Given the description of an element on the screen output the (x, y) to click on. 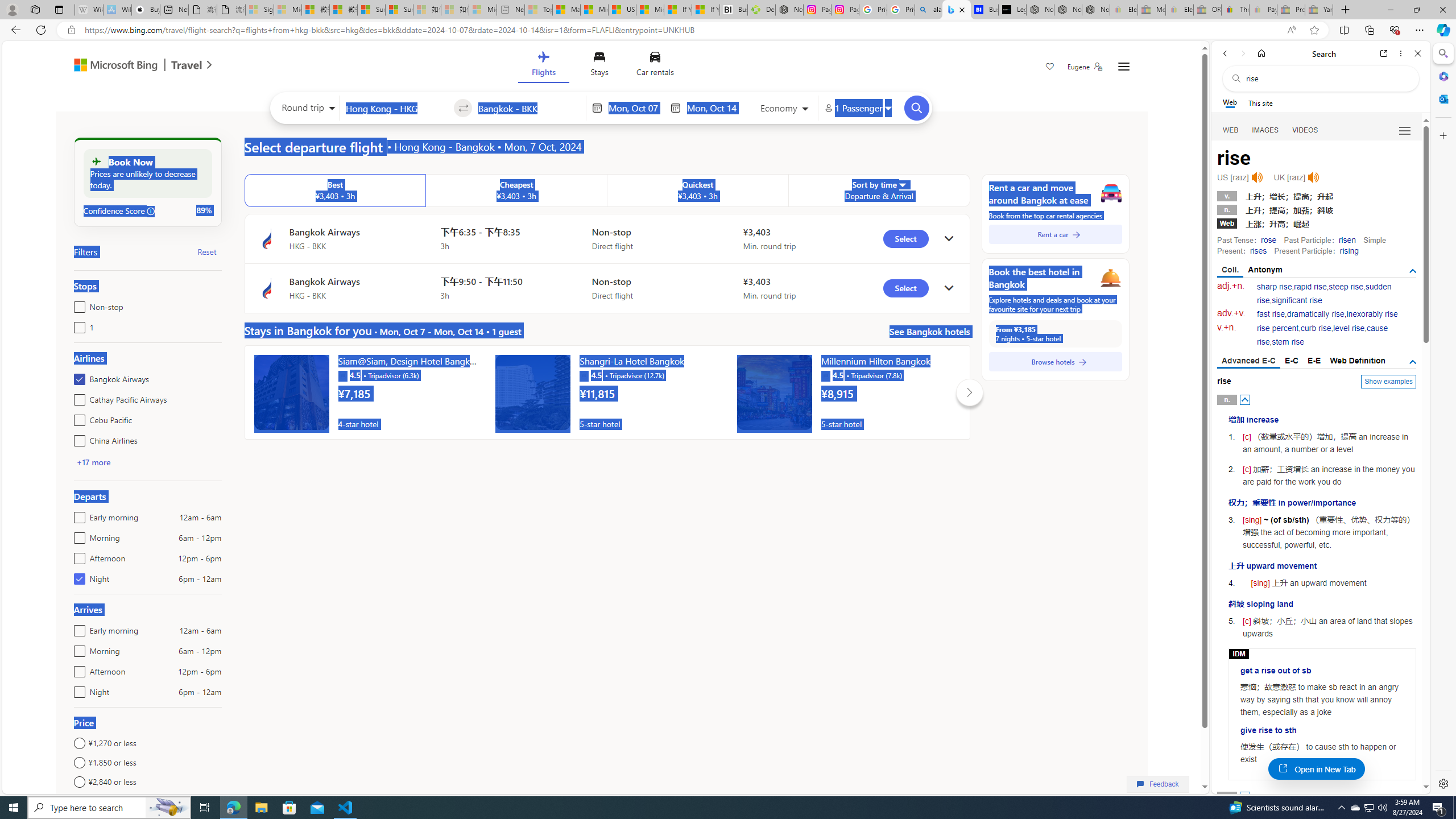
Microsoft Bing Travel - Flights from Hong Kong to Bangkok (956, 9)
Advanced E-C (1248, 361)
Outlook (1442, 98)
Non-stop (76, 304)
